Given the description of an element on the screen output the (x, y) to click on. 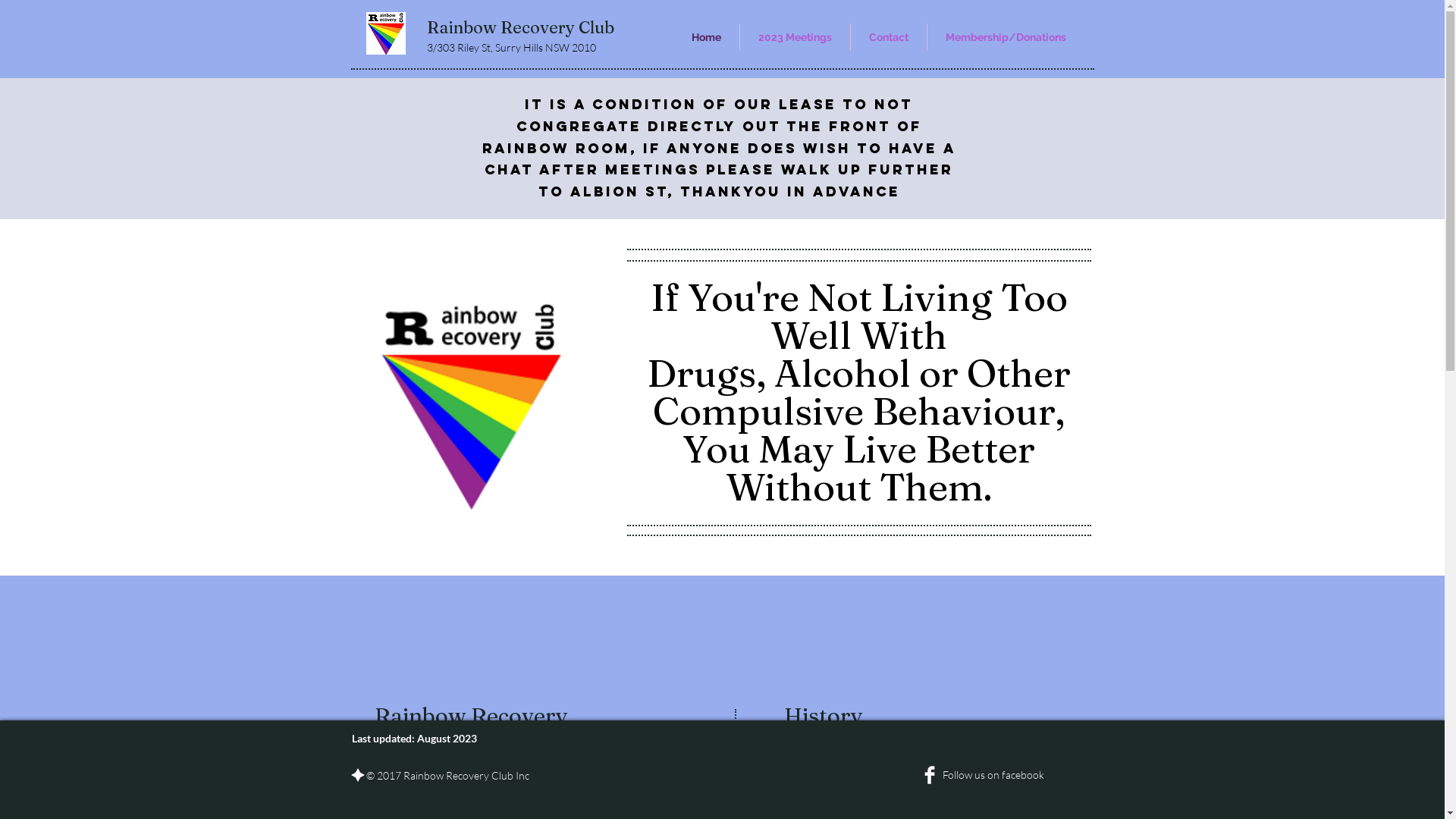
Home Element type: text (706, 36)
Rainbow Recovery Club Logo.png Element type: hover (384, 33)
Rainbow Recovery Club Logo.png Element type: hover (469, 403)
2023 Meetings Element type: text (795, 36)
Membership/Donations Element type: text (1004, 36)
Contact Element type: text (888, 36)
